Given the description of an element on the screen output the (x, y) to click on. 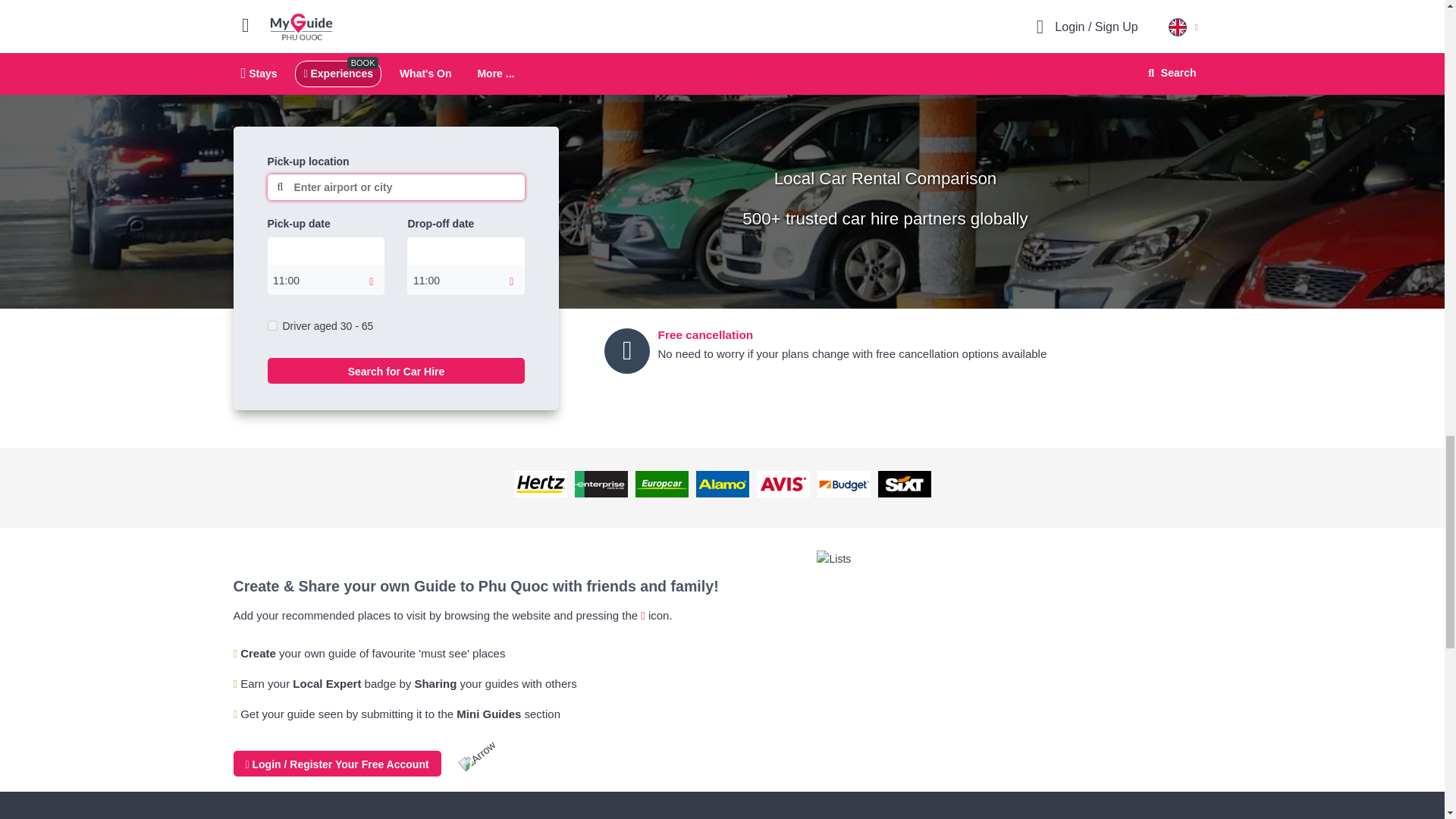
on (271, 325)
